Given the description of an element on the screen output the (x, y) to click on. 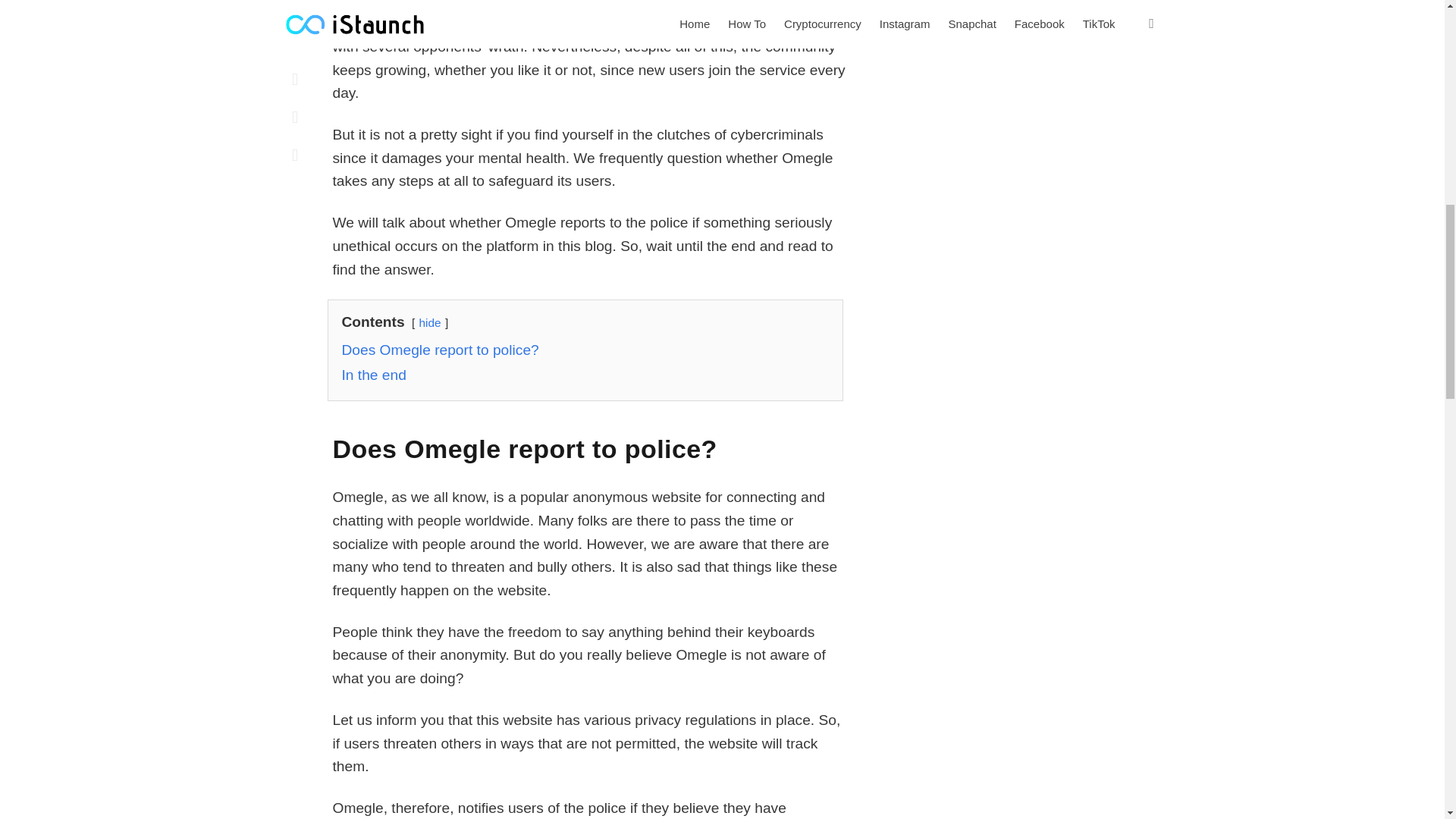
hide (430, 322)
In the end (373, 374)
Does Omegle report to police? (439, 349)
